Given the description of an element on the screen output the (x, y) to click on. 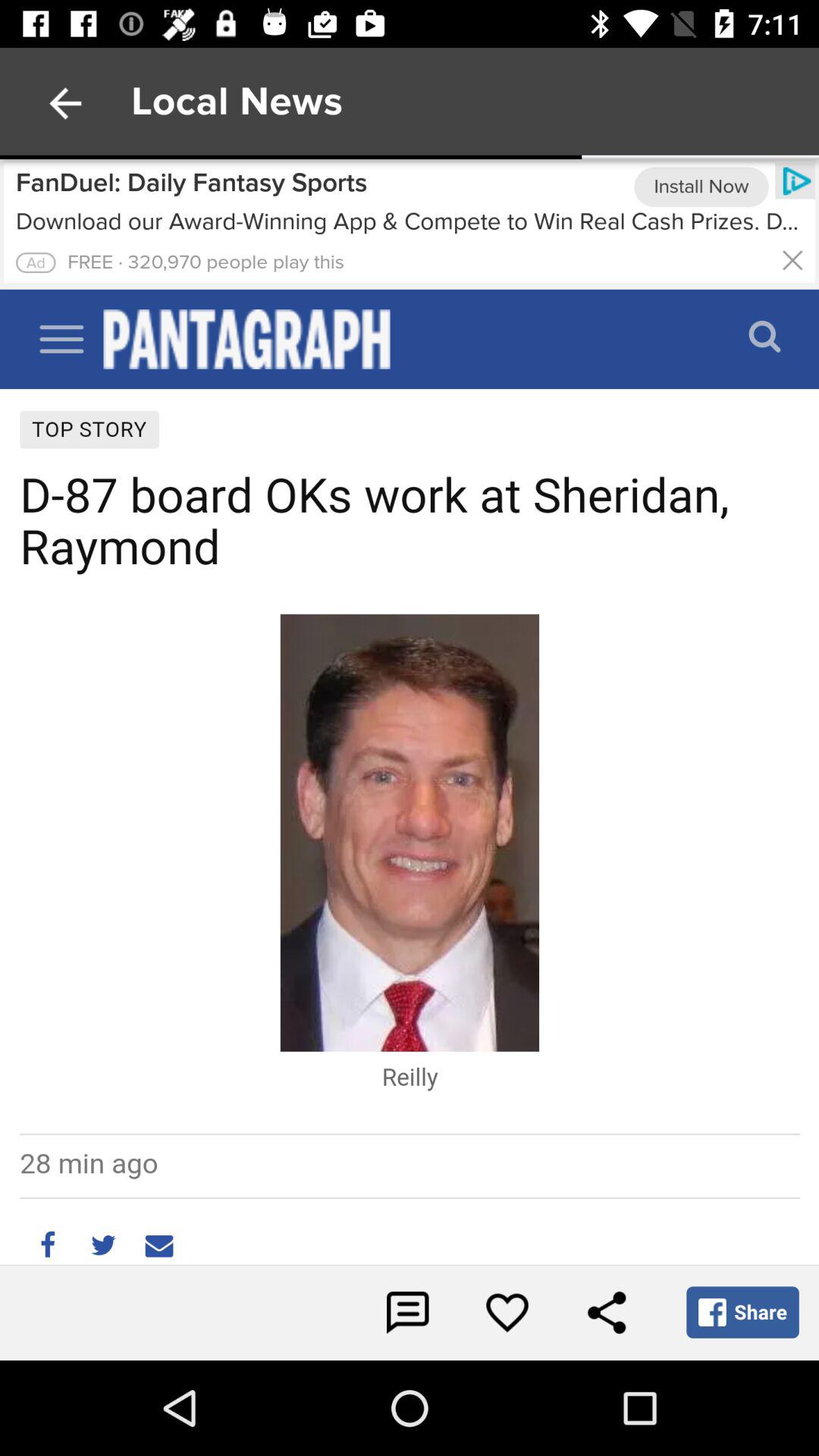
advertisement sponsor (409, 224)
